Given the description of an element on the screen output the (x, y) to click on. 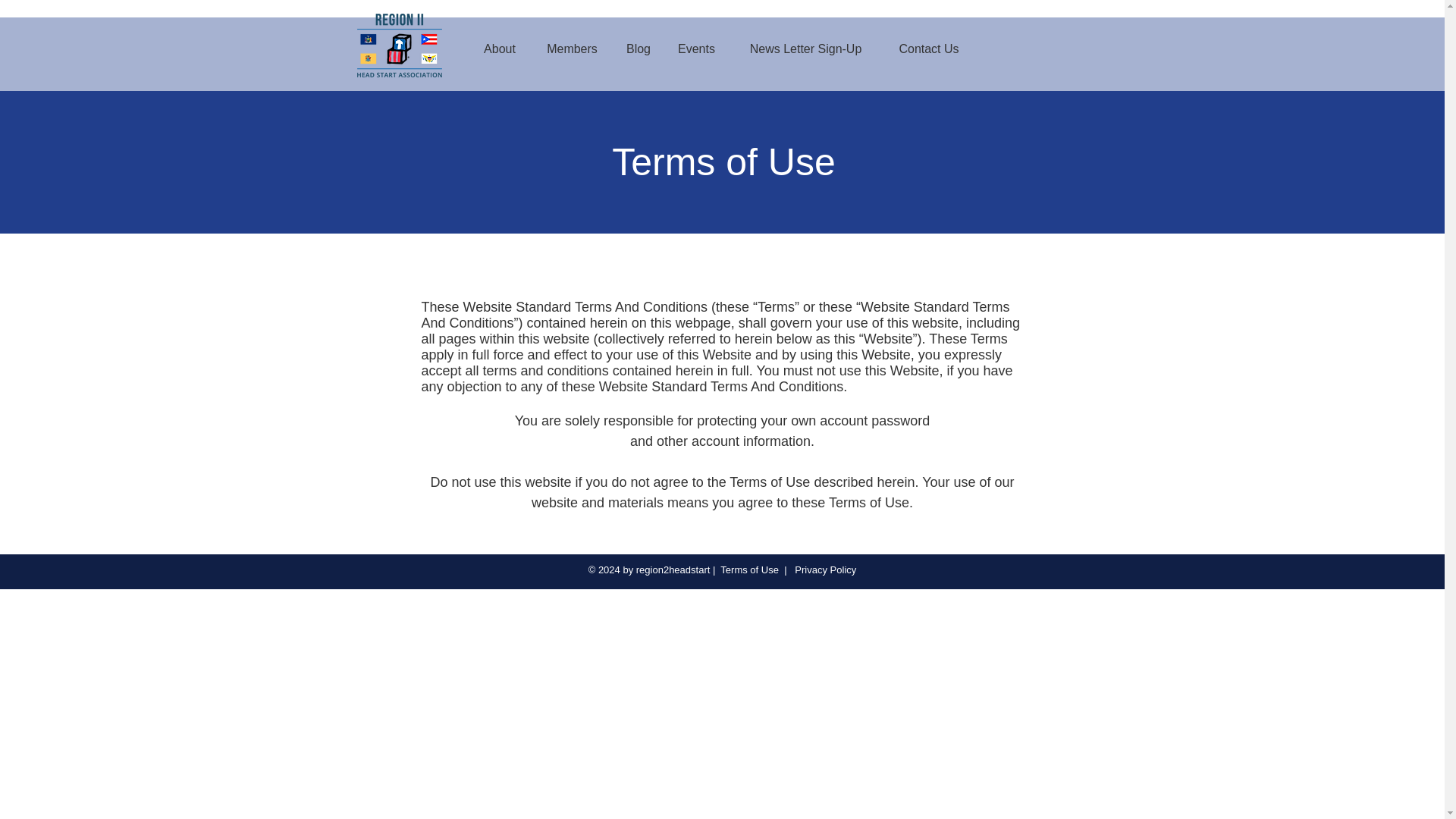
logo.png (398, 44)
 Privacy Policy (824, 569)
Blog (637, 48)
About (499, 48)
News Letter Sign-Up (805, 48)
Terms of Use (749, 569)
Events (696, 48)
Members (571, 48)
Contact Us (928, 48)
